Given the description of an element on the screen output the (x, y) to click on. 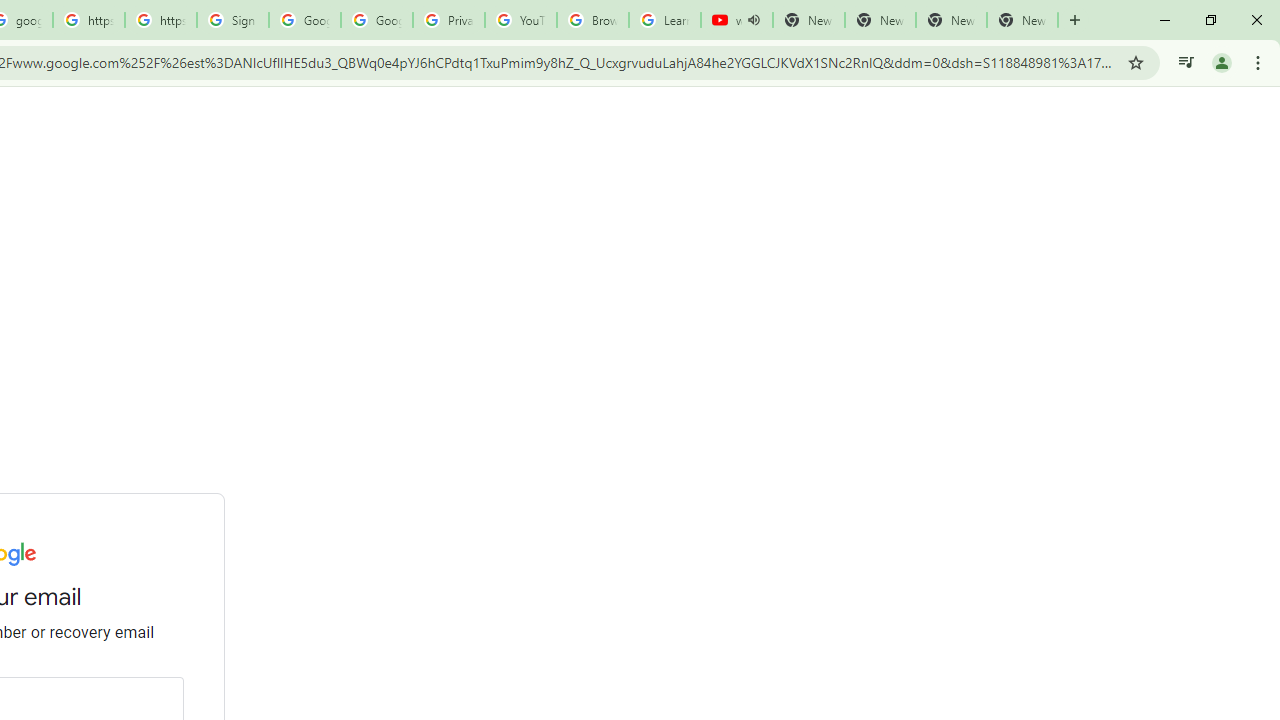
New Tab (880, 20)
